Given the description of an element on the screen output the (x, y) to click on. 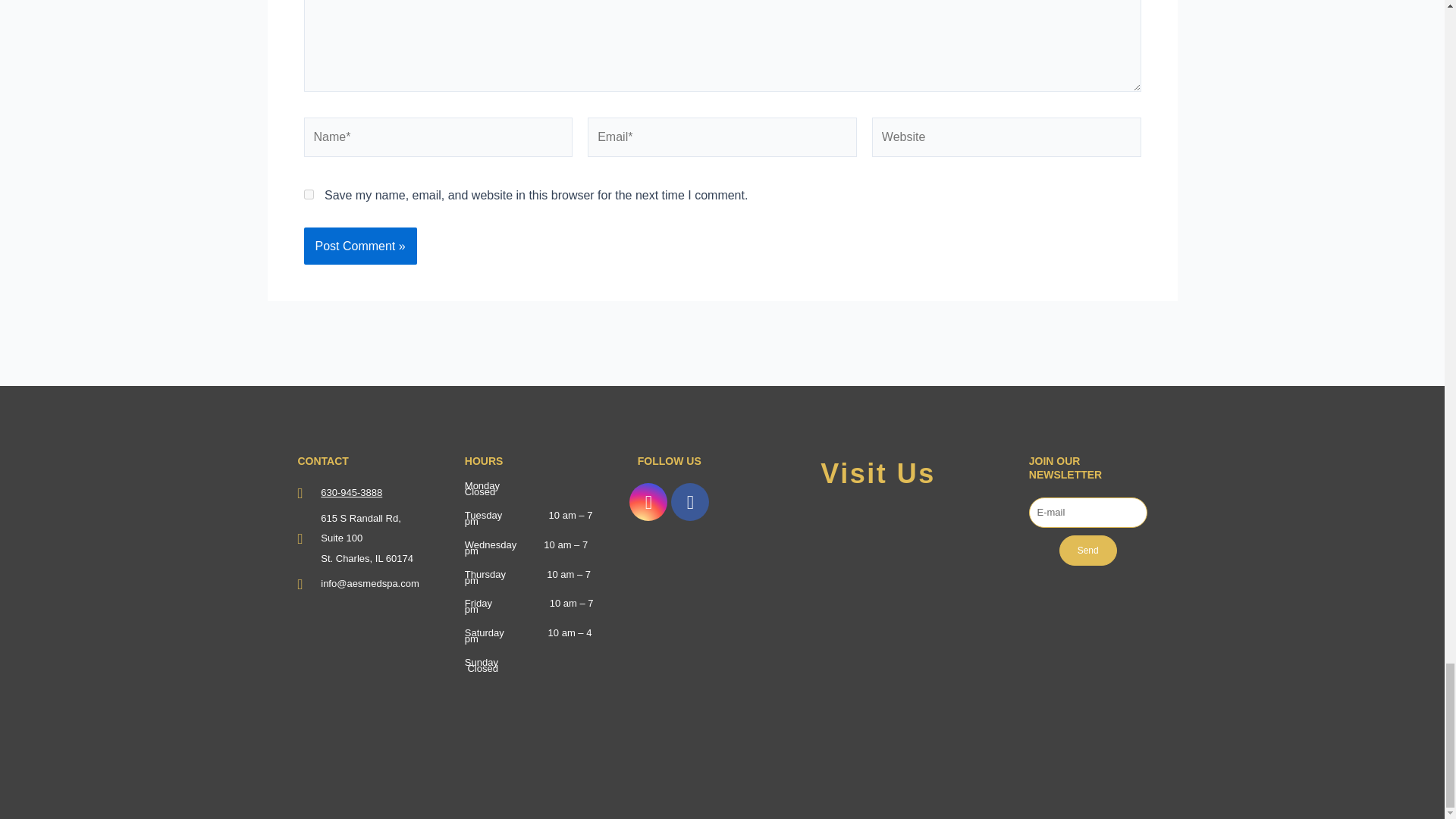
yes (307, 194)
